Given the description of an element on the screen output the (x, y) to click on. 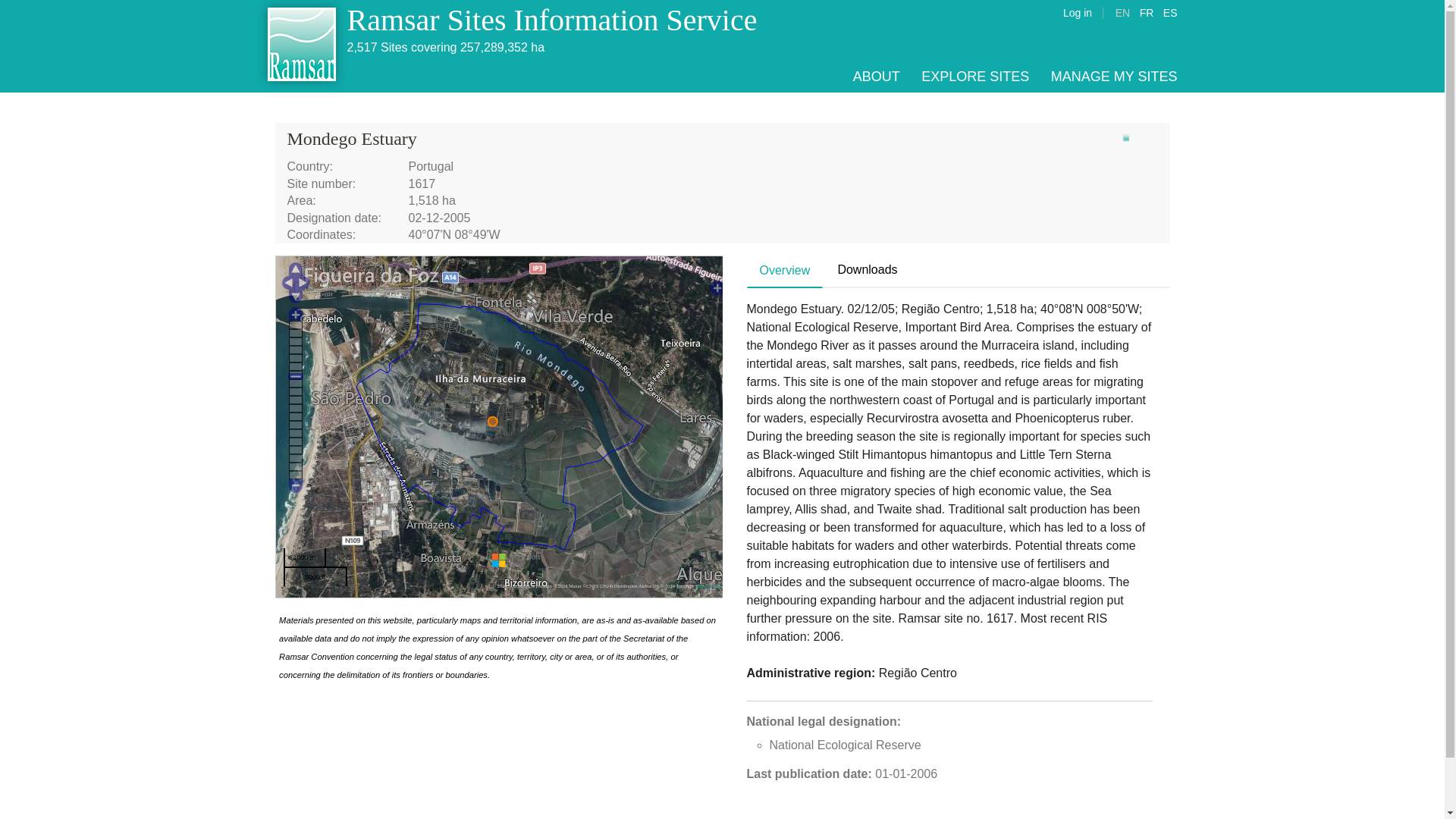
Log in (1077, 12)
MANAGE MY SITES (1114, 76)
EN (1122, 12)
ABOUT (876, 76)
EXPLORE SITES (975, 76)
Ramsar Sites Information Service (552, 19)
Home (301, 46)
Terms of Use (707, 585)
Overview (785, 271)
ES (1170, 12)
